Given the description of an element on the screen output the (x, y) to click on. 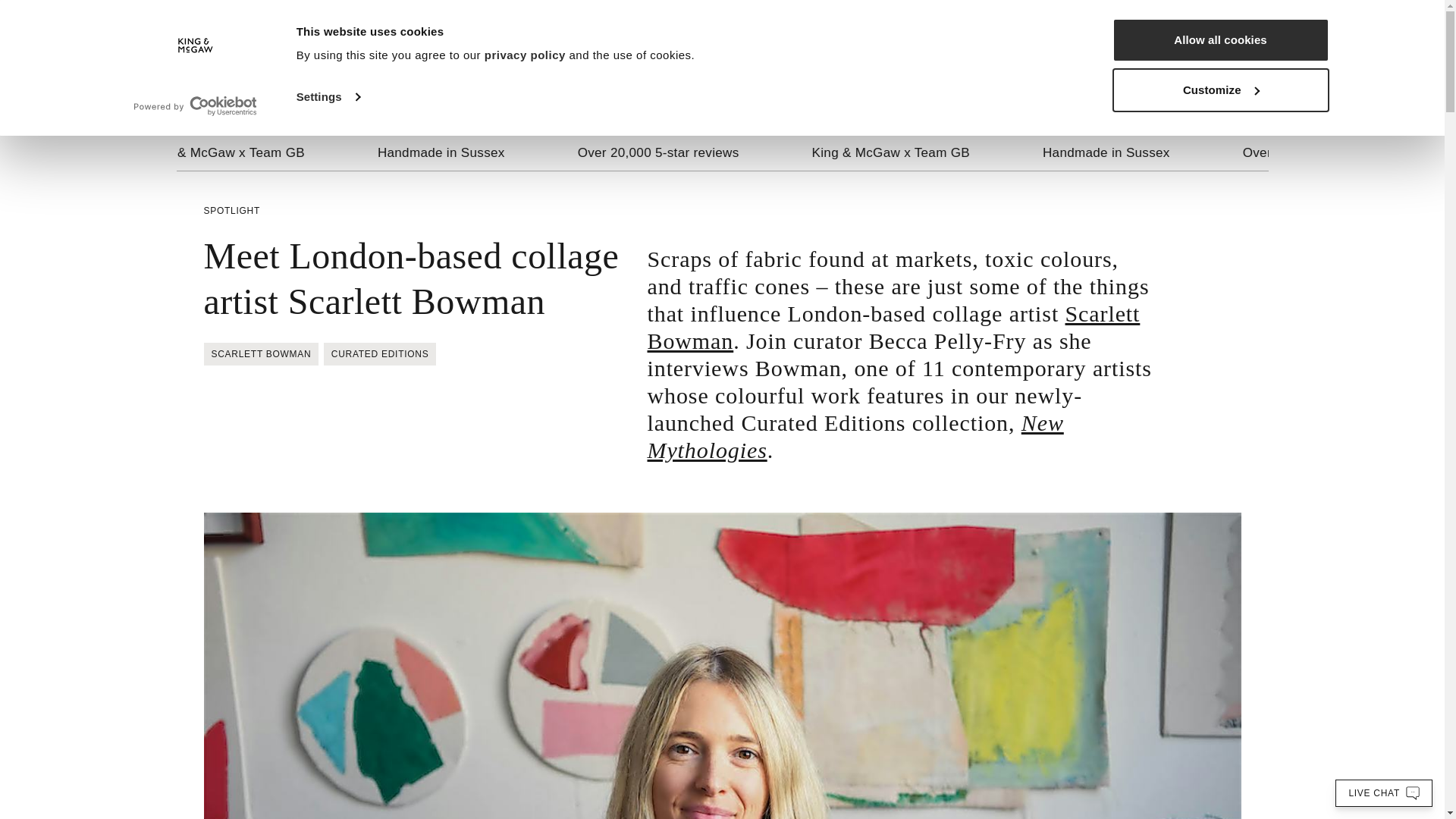
Settings (328, 96)
privacy policy (525, 54)
